Given the description of an element on the screen output the (x, y) to click on. 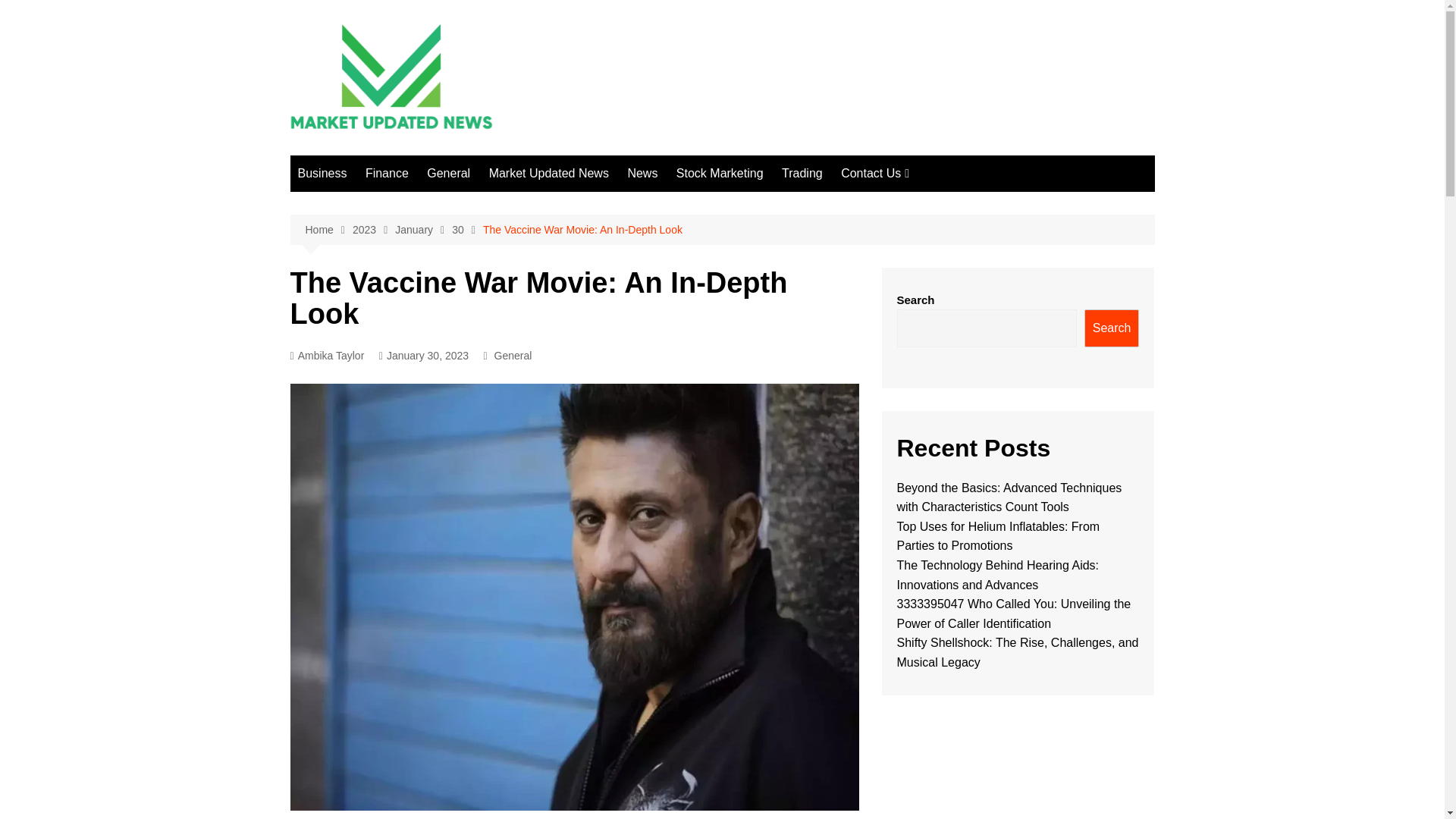
January 30, 2023 (423, 355)
Affiliate Disclaimer (916, 229)
January (422, 230)
30 (467, 230)
Ambika Taylor (326, 355)
Trading (801, 173)
Market Updated News (548, 173)
Privacy Policy (916, 329)
Stock Marketing (719, 173)
Business (321, 173)
